Given the description of an element on the screen output the (x, y) to click on. 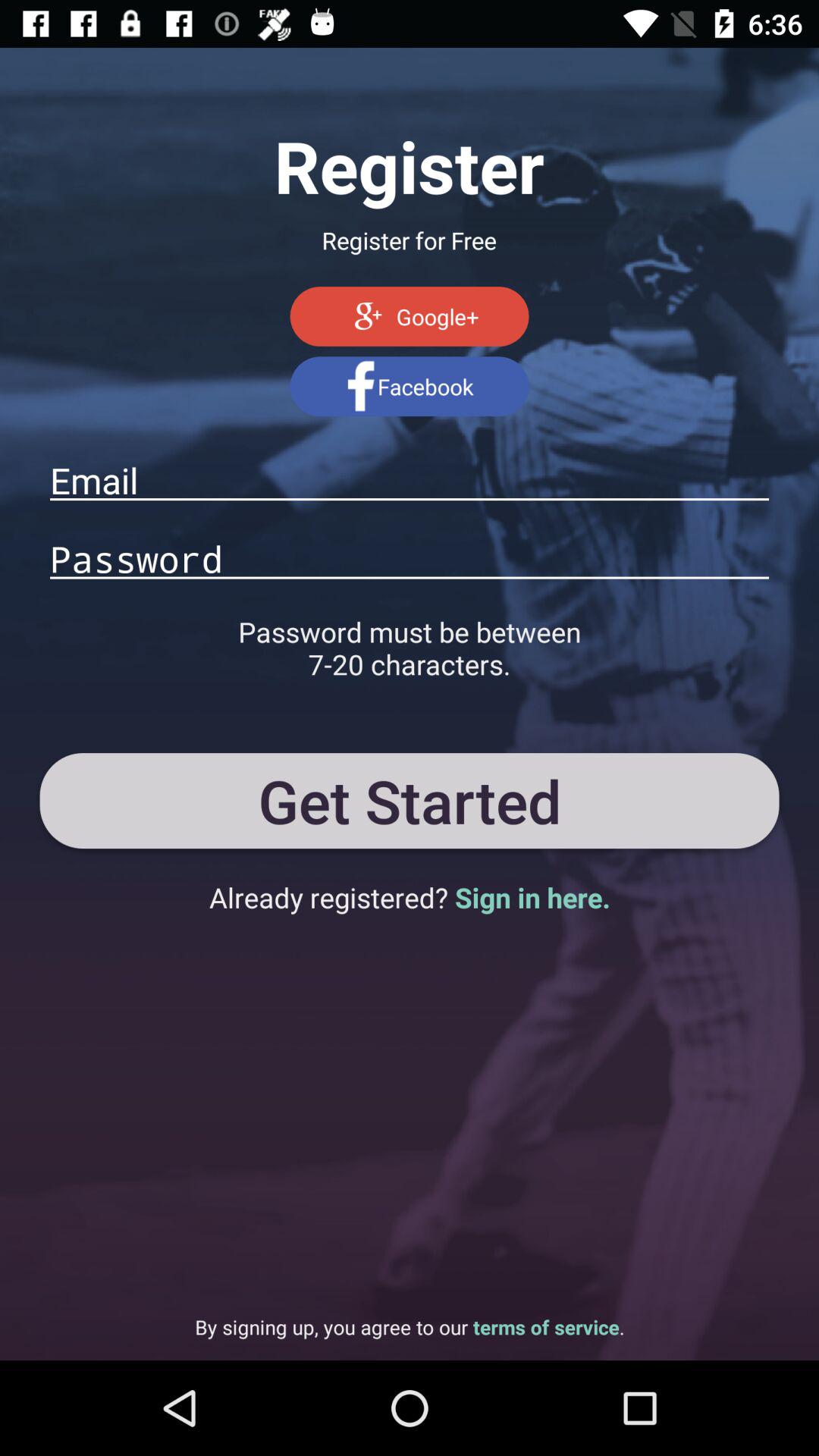
opens a field to type an e-mail address (409, 480)
